Given the description of an element on the screen output the (x, y) to click on. 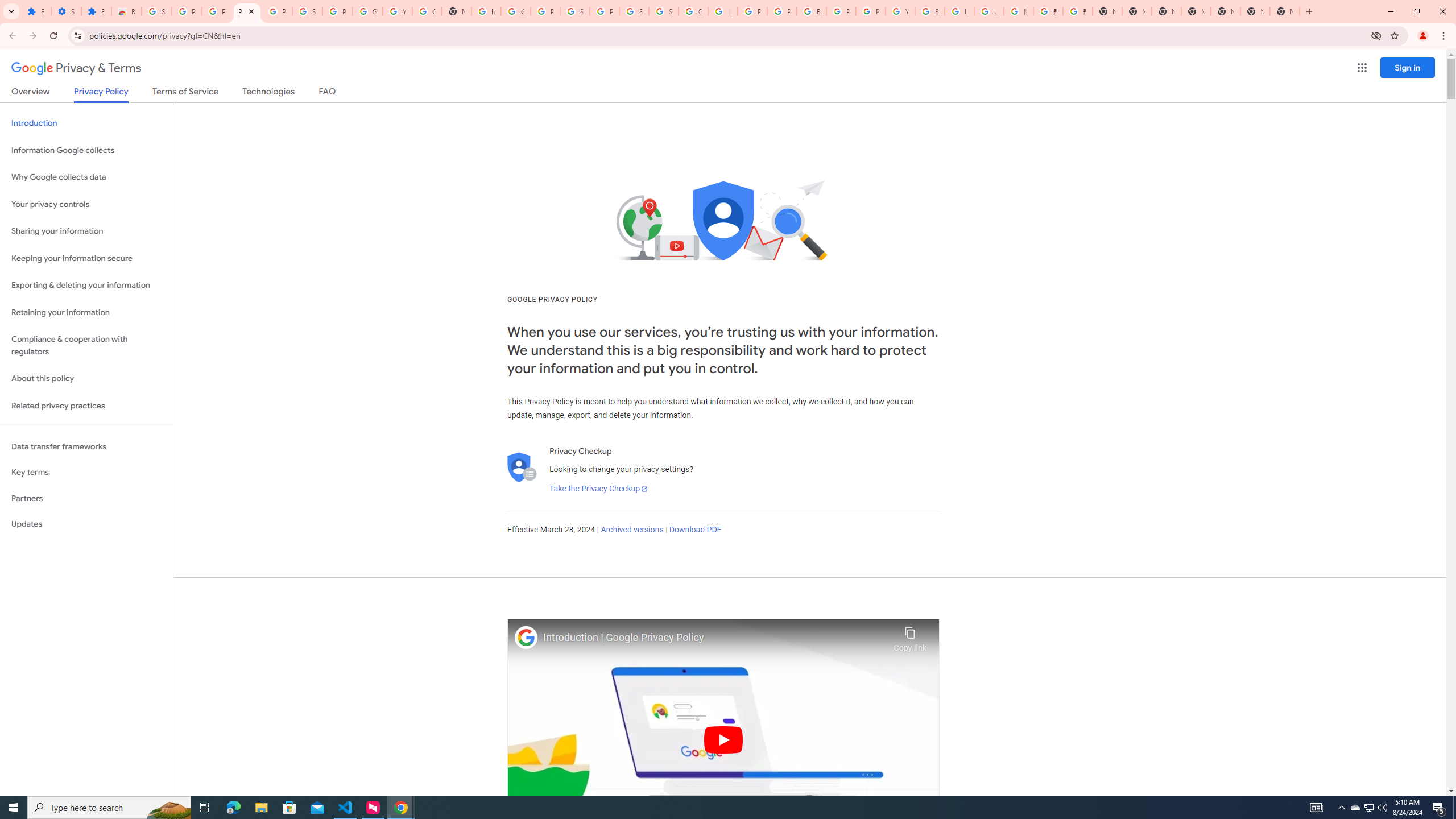
Archived versions (631, 529)
YouTube (900, 11)
New Tab (1284, 11)
Key terms (86, 472)
Sign in - Google Accounts (306, 11)
Sharing your information (86, 230)
